Given the description of an element on the screen output the (x, y) to click on. 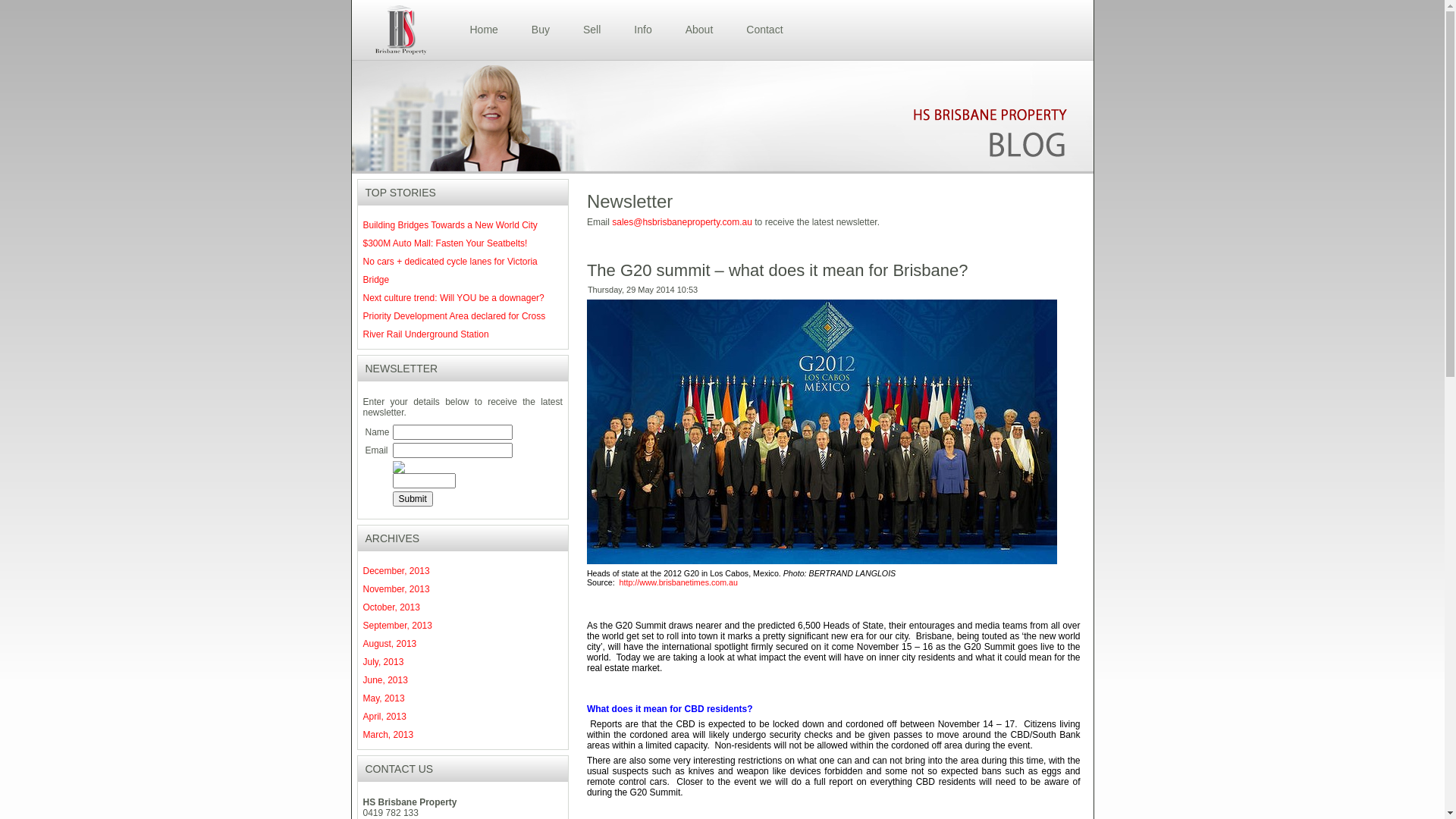
sales@hsbrisbaneproperty.com.au Element type: text (681, 221)
August, 2013 Element type: text (389, 643)
March, 2013 Element type: text (387, 734)
October, 2013 Element type: text (390, 607)
July, 2013 Element type: text (382, 661)
Submit Element type: text (412, 498)
September, 2013 Element type: text (396, 625)
http://www.brisbanetimes.com.au Element type: text (678, 581)
May, 2013 Element type: text (383, 698)
No cars + dedicated cycle lanes for Victoria Bridge Element type: text (449, 270)
Info Element type: text (642, 29)
Contact Element type: text (764, 29)
Sell Element type: text (591, 29)
About Element type: text (699, 29)
Next culture trend: Will YOU be a downager? Element type: text (452, 297)
Building Bridges Towards a New World City Element type: text (449, 224)
December, 2013 Element type: text (395, 570)
$300M Auto Mall: Fasten Your Seatbelts! Element type: text (444, 243)
November, 2013 Element type: text (395, 588)
June, 2013 Element type: text (384, 679)
  Element type: text (618, 581)
Home Element type: text (483, 29)
Buy Element type: text (540, 29)
April, 2013 Element type: text (383, 716)
